Given the description of an element on the screen output the (x, y) to click on. 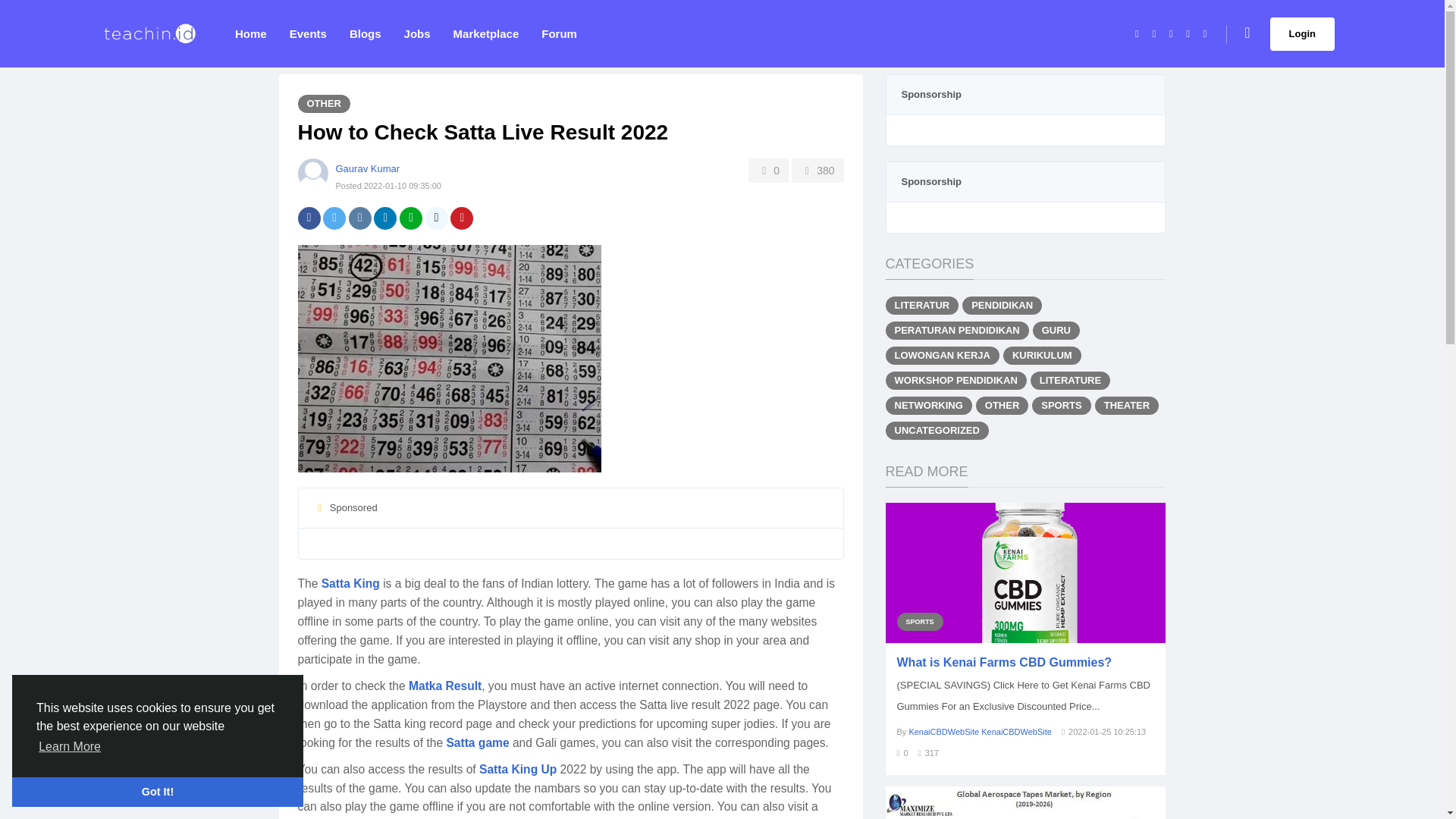
0 (768, 170)
Login (1302, 32)
Satta game (476, 742)
Satta King (350, 583)
OTHER (323, 104)
Matka Result (445, 686)
Satta King Up (517, 769)
Learn More (69, 746)
Marketplace (486, 33)
Teachin.id (149, 33)
Gaurav Kumar (366, 168)
Got It! (156, 791)
